Given the description of an element on the screen output the (x, y) to click on. 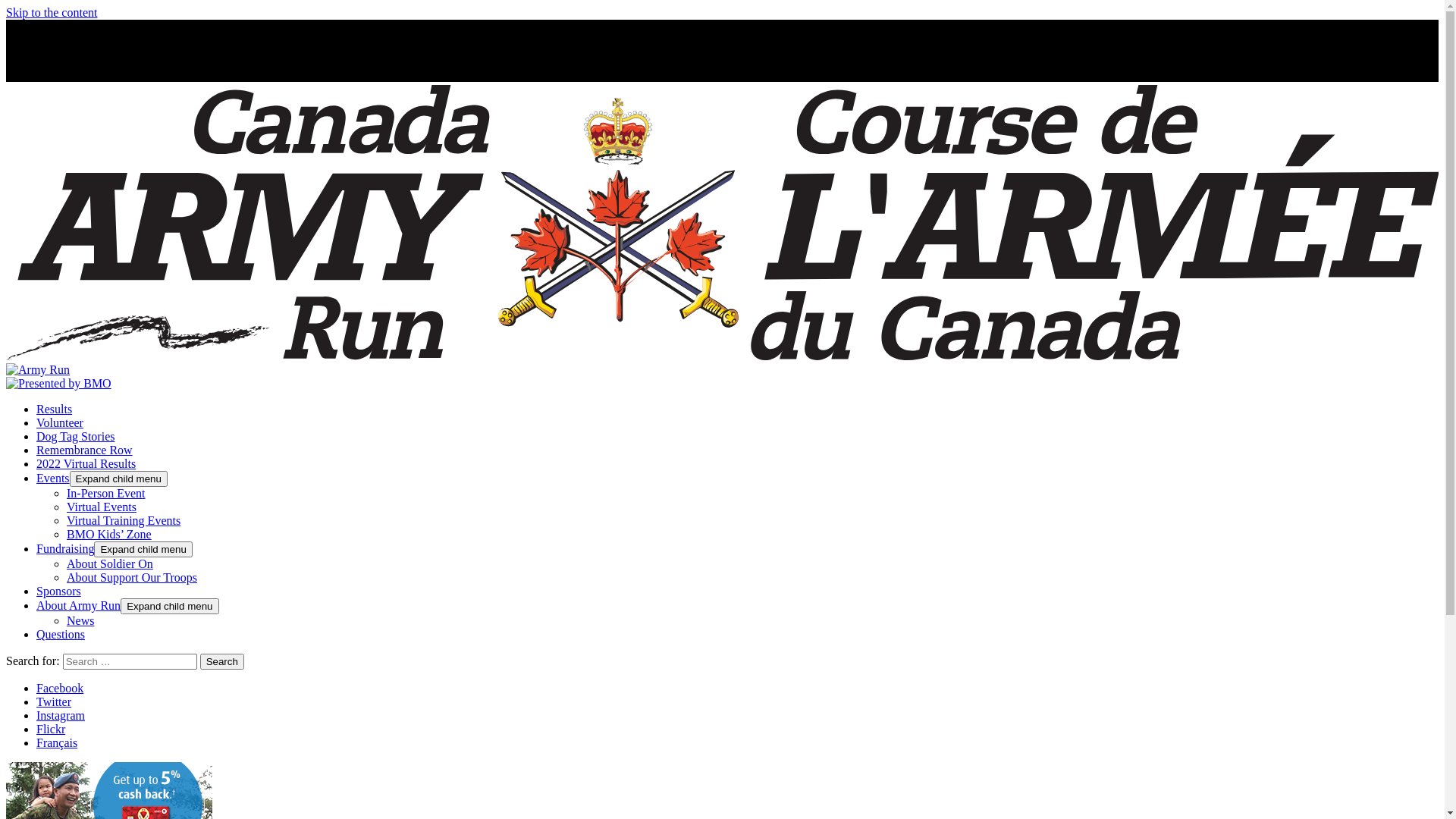
Search Element type: text (222, 661)
About Support Our Troops Element type: text (131, 577)
Skip to the content Element type: text (51, 12)
About Soldier On Element type: text (109, 563)
Fundraising Element type: text (65, 548)
Sponsors Element type: text (58, 590)
Expand child menu Element type: text (118, 478)
In-Person Event Element type: text (105, 492)
Instagram Element type: text (60, 715)
Expand child menu Element type: text (142, 549)
News Element type: text (80, 620)
About Army Run Element type: text (78, 605)
2022 Virtual Results Element type: text (85, 463)
Dog Tag Stories Element type: text (75, 435)
Virtual Training Events Element type: text (123, 520)
Flickr Element type: text (50, 728)
Questions Element type: text (60, 633)
Remembrance Row Element type: text (84, 449)
Virtual Events Element type: text (101, 506)
Results Element type: text (54, 408)
Events Element type: text (52, 477)
Army Run Element type: hover (722, 362)
Twitter Element type: text (53, 701)
Expand child menu Element type: text (169, 606)
Volunteer Element type: text (59, 422)
Facebook Element type: text (59, 687)
